Given the description of an element on the screen output the (x, y) to click on. 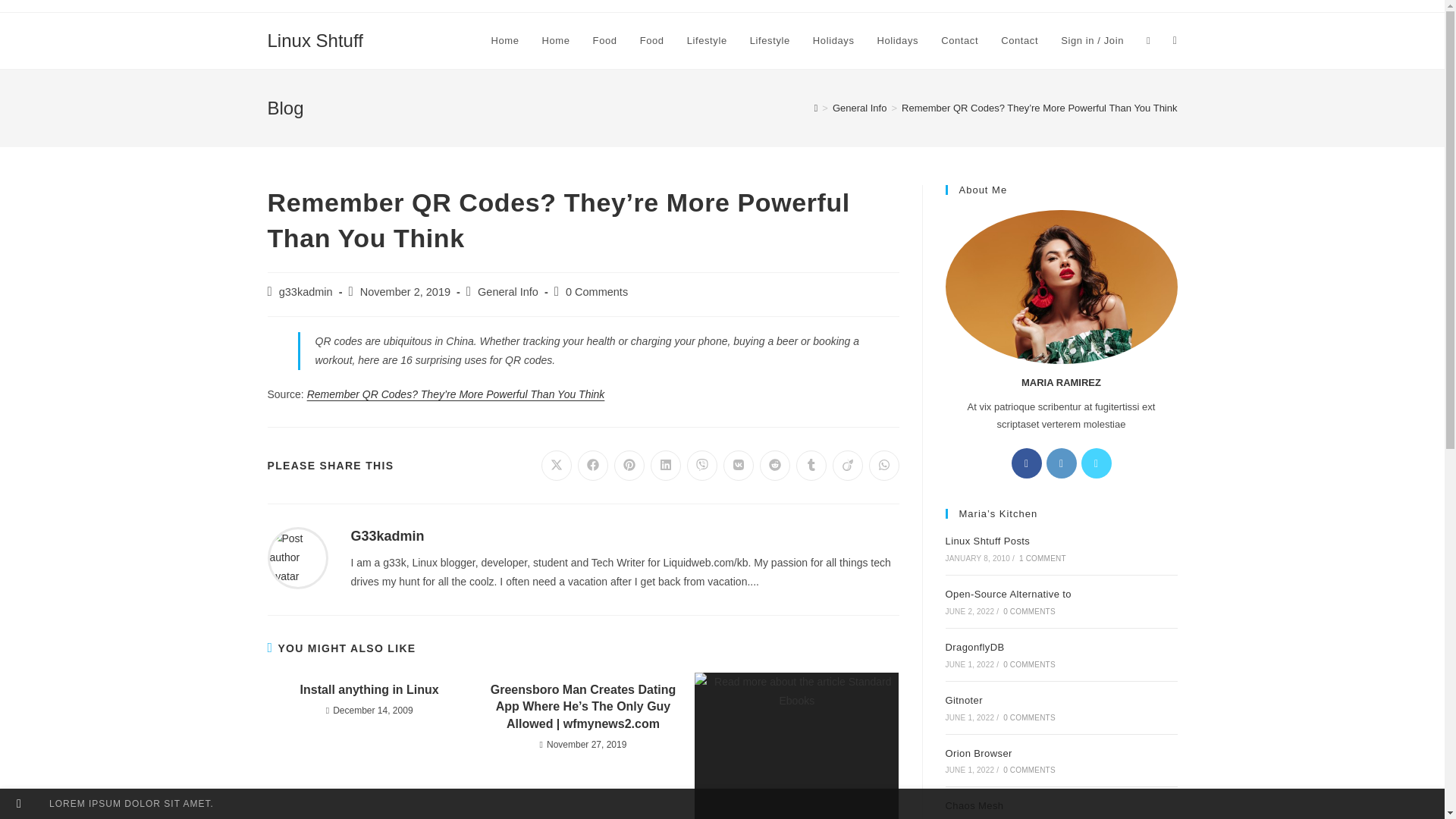
Contact (960, 40)
Home (504, 40)
Home (555, 40)
Lifestyle (706, 40)
Contact (1019, 40)
General Info (507, 291)
Visit author page (296, 557)
Holidays (898, 40)
g33kadmin (306, 291)
0 Comments (596, 291)
